Given the description of an element on the screen output the (x, y) to click on. 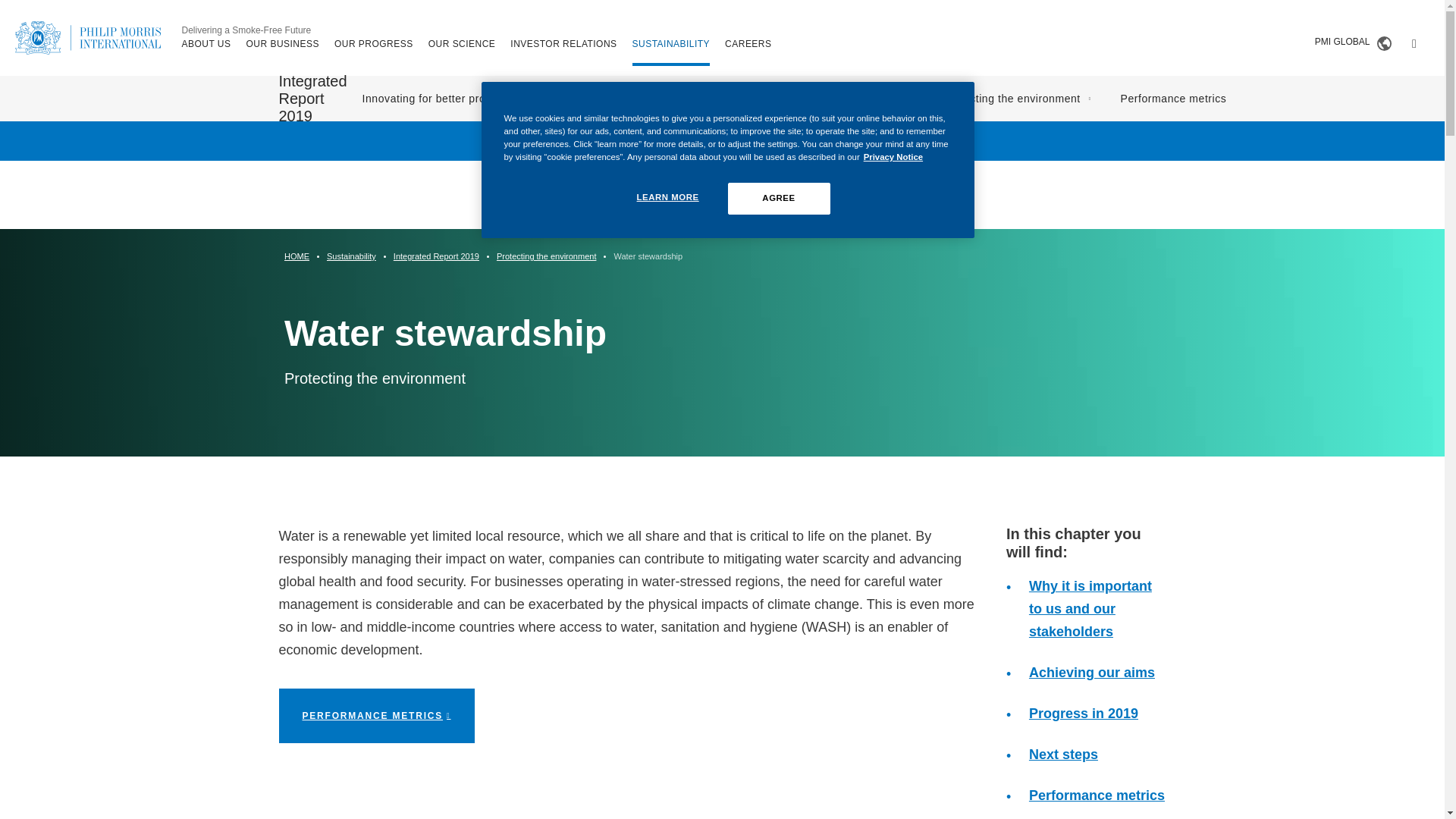
OUR PROGRESS (373, 43)
OUR SCIENCE (462, 43)
INVESTOR RELATIONS (563, 43)
SUSTAINABILITY (670, 43)
OUR BUSINESS (282, 43)
ABOUT US (206, 43)
